Given the description of an element on the screen output the (x, y) to click on. 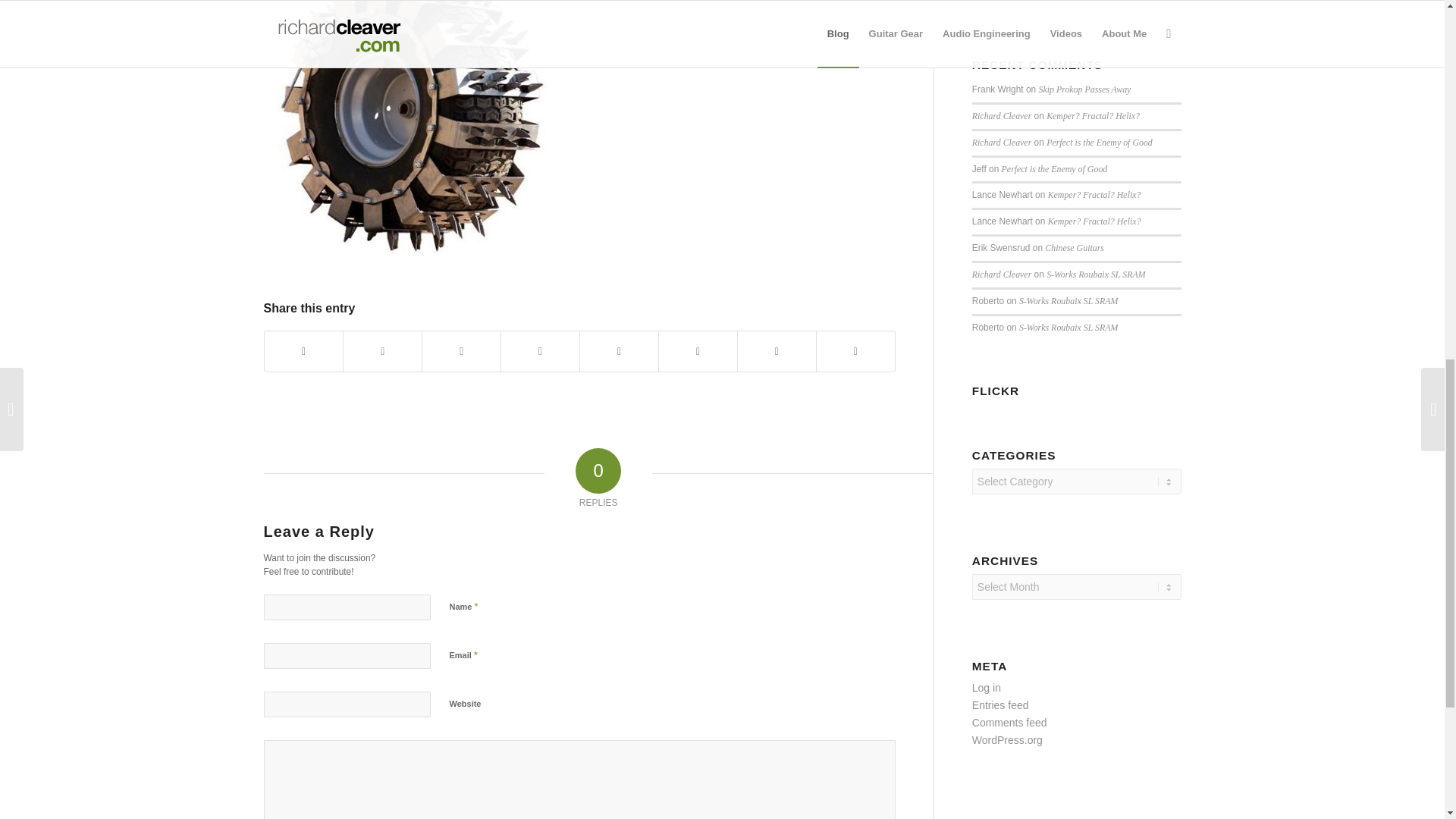
Chinese Guitars (1074, 247)
Kemper? Fractal? Helix? (1094, 194)
Kemper? Fractal? Helix? (1094, 221)
Perfect is the Enemy of Good (1054, 168)
S-Works Roubaix SL SRAM (1068, 300)
S-Works Roubaix SL SRAM (1068, 327)
Skip Prokop Passes Away (1084, 89)
Richard Cleaver (1001, 115)
Perfect is the Enemy of Good (1099, 142)
spikes (415, 132)
Richard Cleaver (1001, 142)
Kemper? Fractal? Helix? (1093, 115)
S-Works Roubaix SL SRAM (1095, 274)
Richard Cleaver (1001, 274)
